Given the description of an element on the screen output the (x, y) to click on. 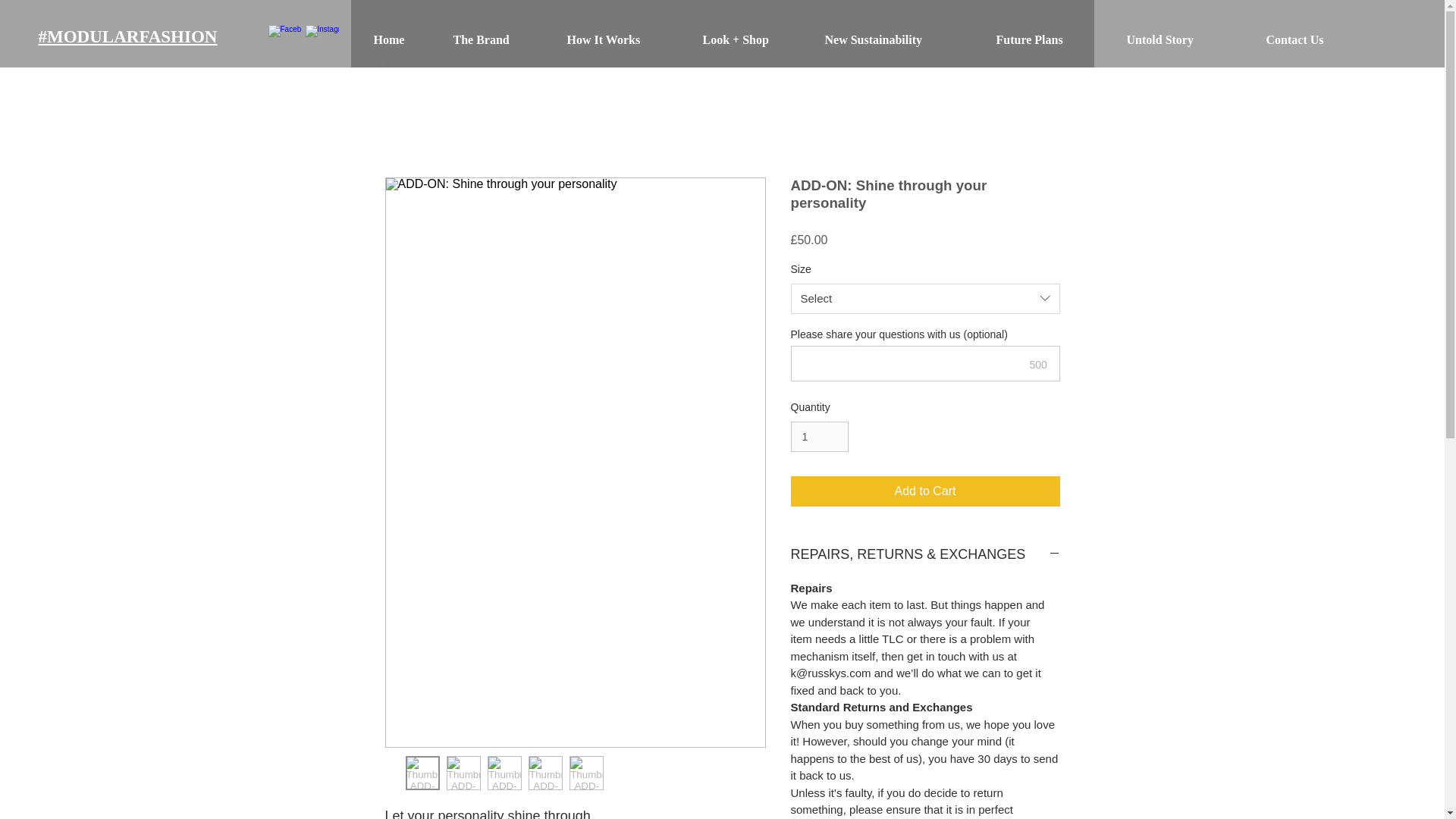
Contact Us (1314, 39)
New Sustainability (898, 39)
Add to Cart (924, 490)
Untold Story (1184, 39)
Home (402, 39)
1 (818, 436)
Select (924, 298)
The Brand (497, 39)
Future Plans (1049, 39)
How It Works (622, 39)
